Given the description of an element on the screen output the (x, y) to click on. 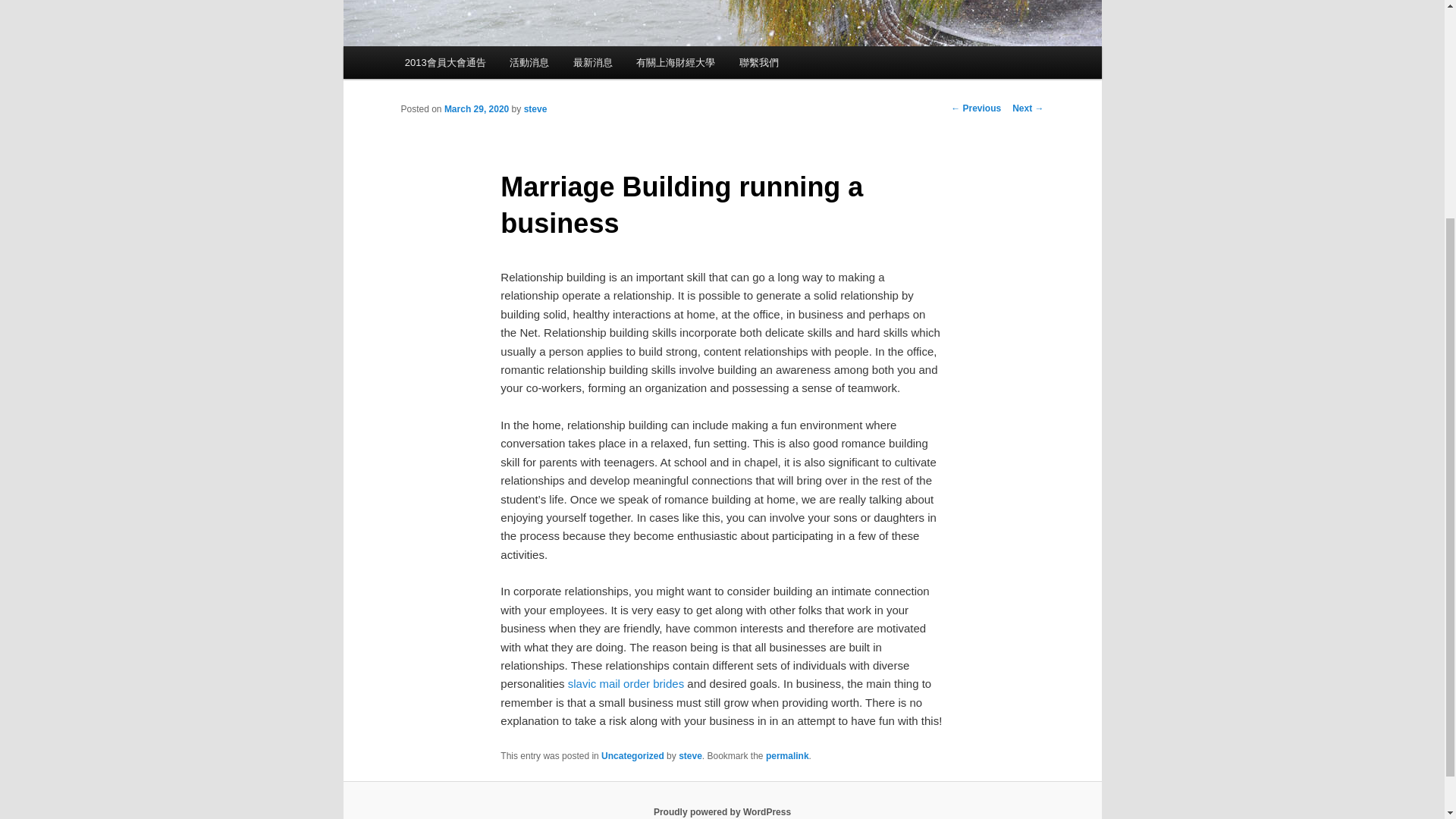
March 29, 2020 (476, 109)
steve (689, 756)
steve (535, 109)
Semantic Personal Publishing Platform (721, 811)
8:00 am (476, 109)
View all posts by steve (535, 109)
Proudly powered by WordPress (721, 811)
slavic mail order brides (625, 683)
permalink (787, 756)
Uncategorized (632, 756)
